Given the description of an element on the screen output the (x, y) to click on. 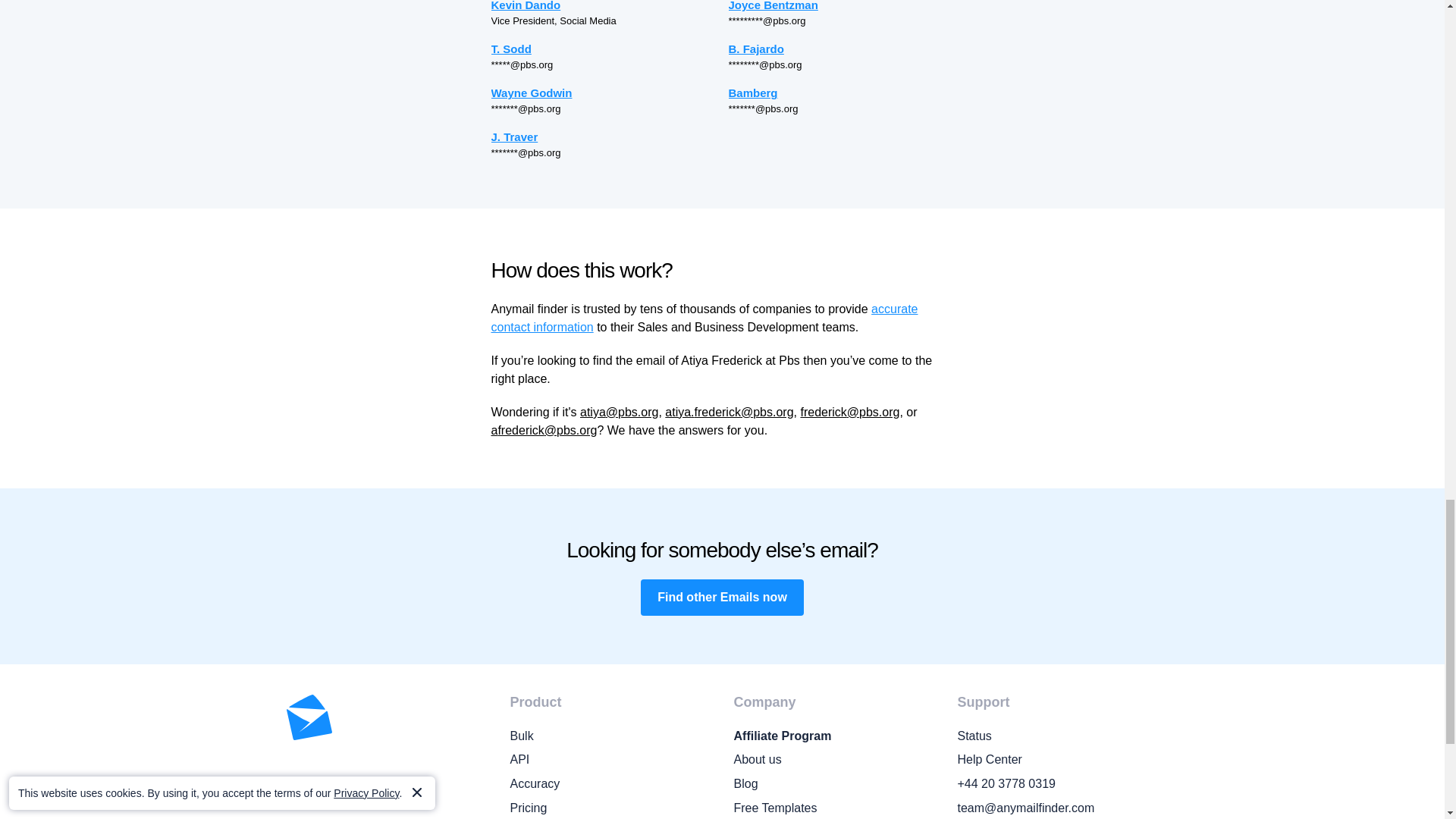
Free Templates (833, 808)
Joyce Bentzman (840, 6)
B. Fajardo (840, 48)
T. Sodd (604, 48)
Bulk (609, 736)
Accuracy (609, 783)
Find other Emails now (721, 597)
Bamberg (840, 92)
J. Traver (604, 136)
About us (833, 759)
Status (1056, 736)
accurate contact information (705, 317)
Wayne Godwin (604, 92)
Blog (833, 783)
Help Center (1056, 759)
